Given the description of an element on the screen output the (x, y) to click on. 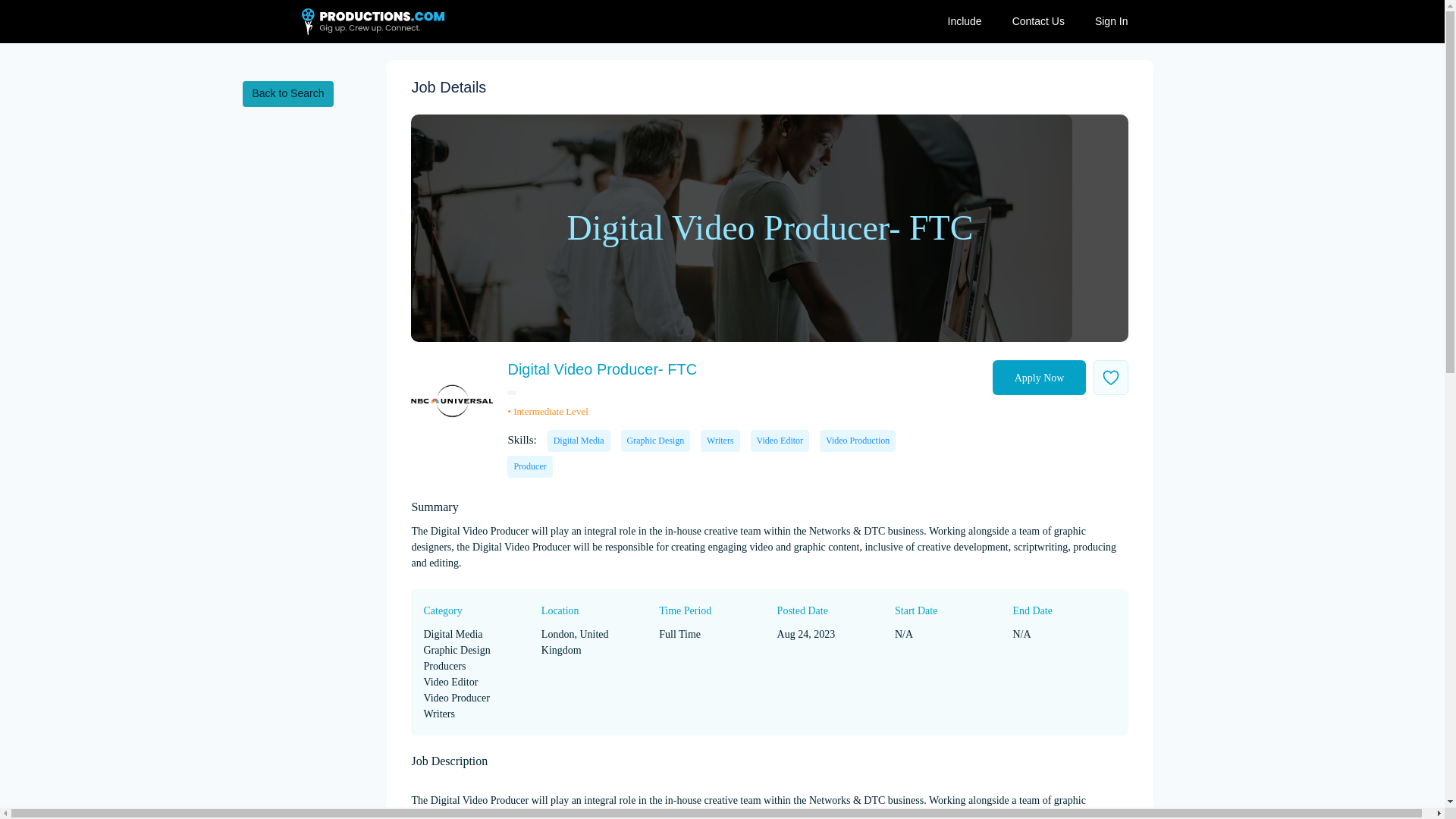
Digital Media (578, 440)
Graphic Design (655, 440)
Apply Now (1039, 377)
Sign In (1111, 20)
Writers (719, 440)
Contact Us (1038, 20)
Include (965, 20)
Producer (528, 466)
Back to Search (288, 94)
Video Editor (780, 440)
Video Production (857, 440)
